Given the description of an element on the screen output the (x, y) to click on. 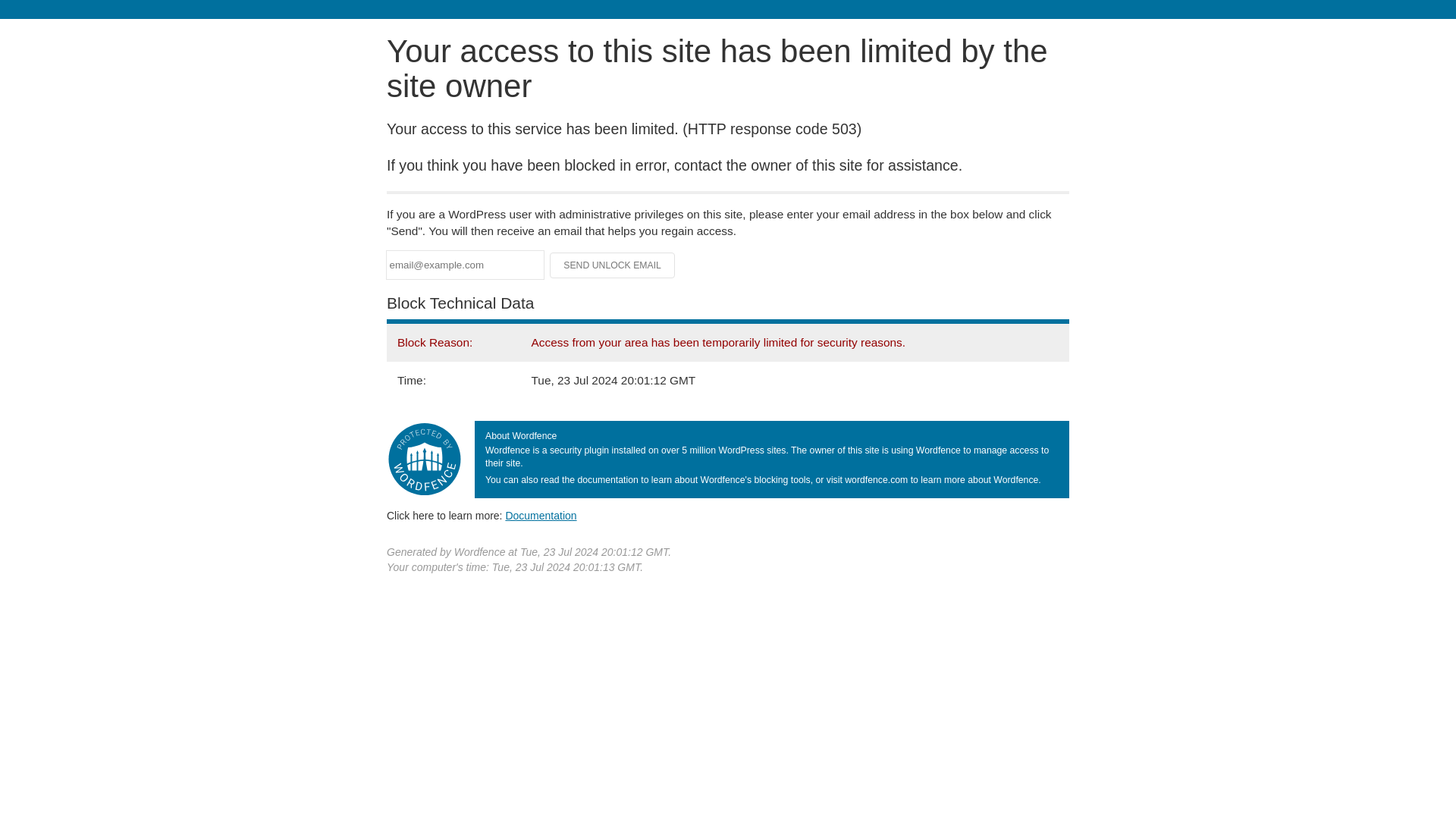
Documentation (540, 515)
Send Unlock Email (612, 265)
Send Unlock Email (612, 265)
